Given the description of an element on the screen output the (x, y) to click on. 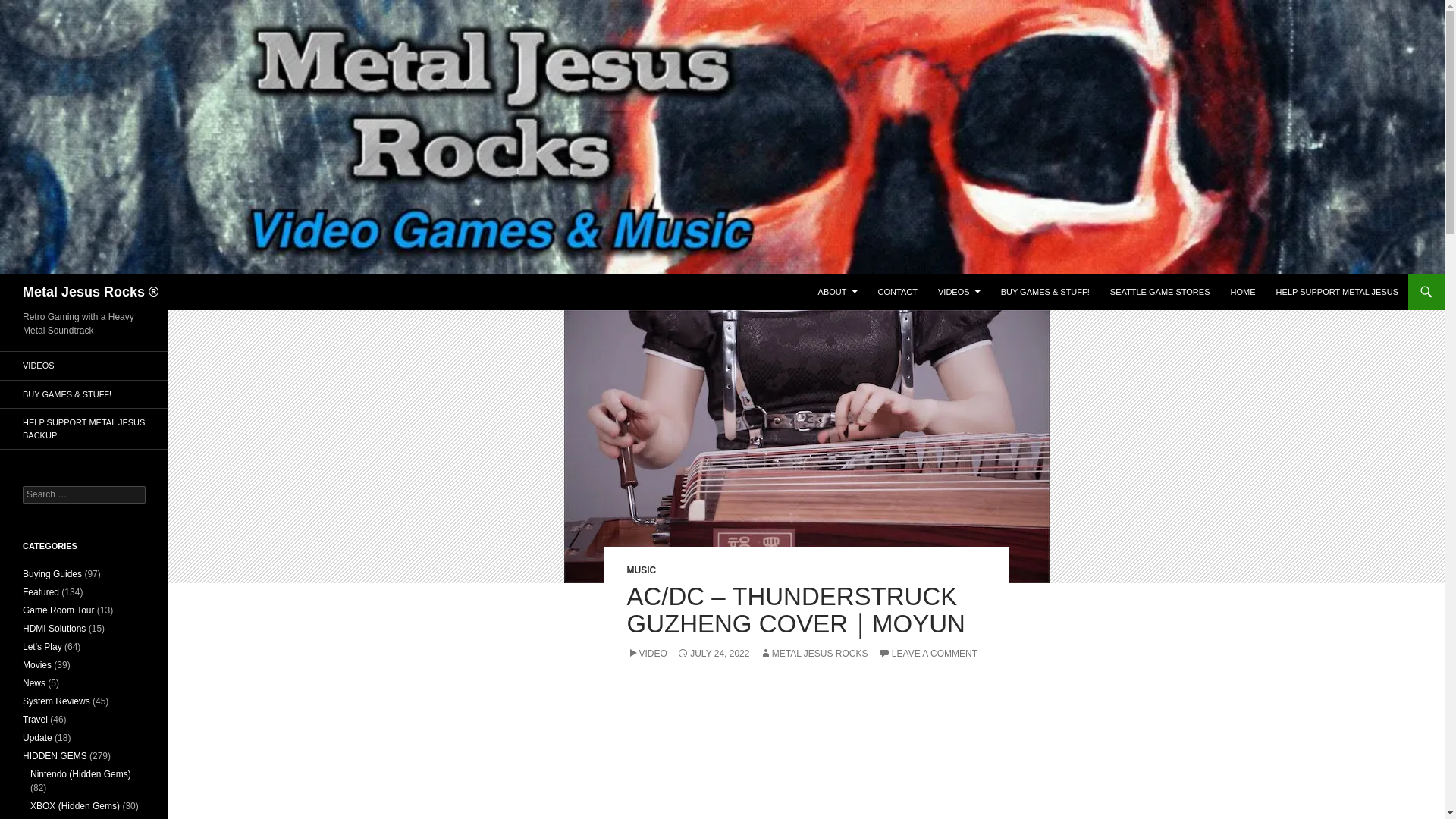
JULY 24, 2022 (713, 653)
ABOUT (837, 291)
SEATTLE GAME STORES (1160, 291)
VIDEOS (959, 291)
HOME (1243, 291)
LEAVE A COMMENT (926, 653)
VIDEO (646, 653)
HELP SUPPORT METAL JESUS (1336, 291)
